Given the description of an element on the screen output the (x, y) to click on. 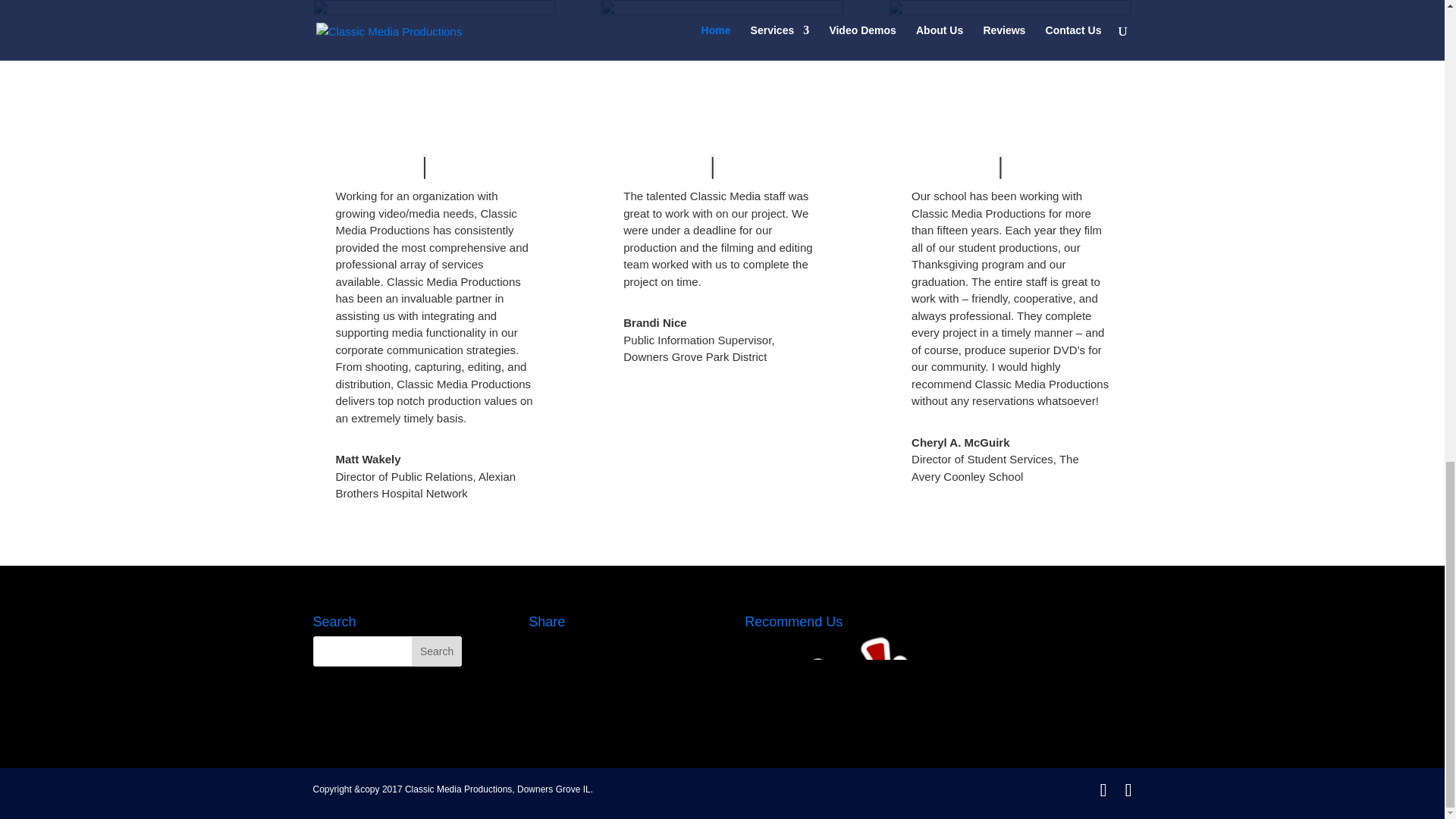
Search (436, 651)
Search (436, 651)
